Given the description of an element on the screen output the (x, y) to click on. 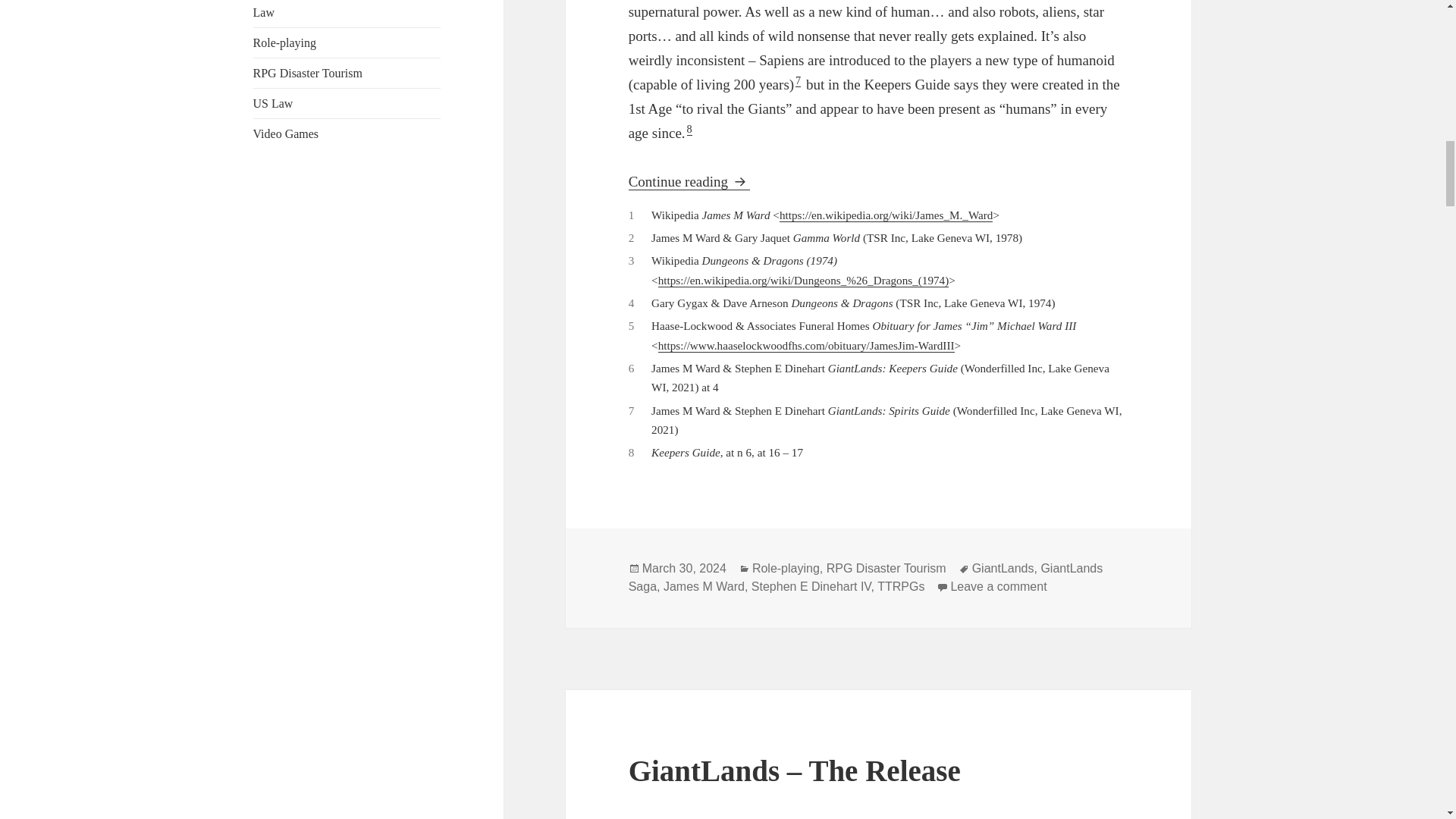
Role-playing (285, 42)
US Law (273, 103)
Law (264, 11)
RPG Disaster Tourism (307, 72)
